Given the description of an element on the screen output the (x, y) to click on. 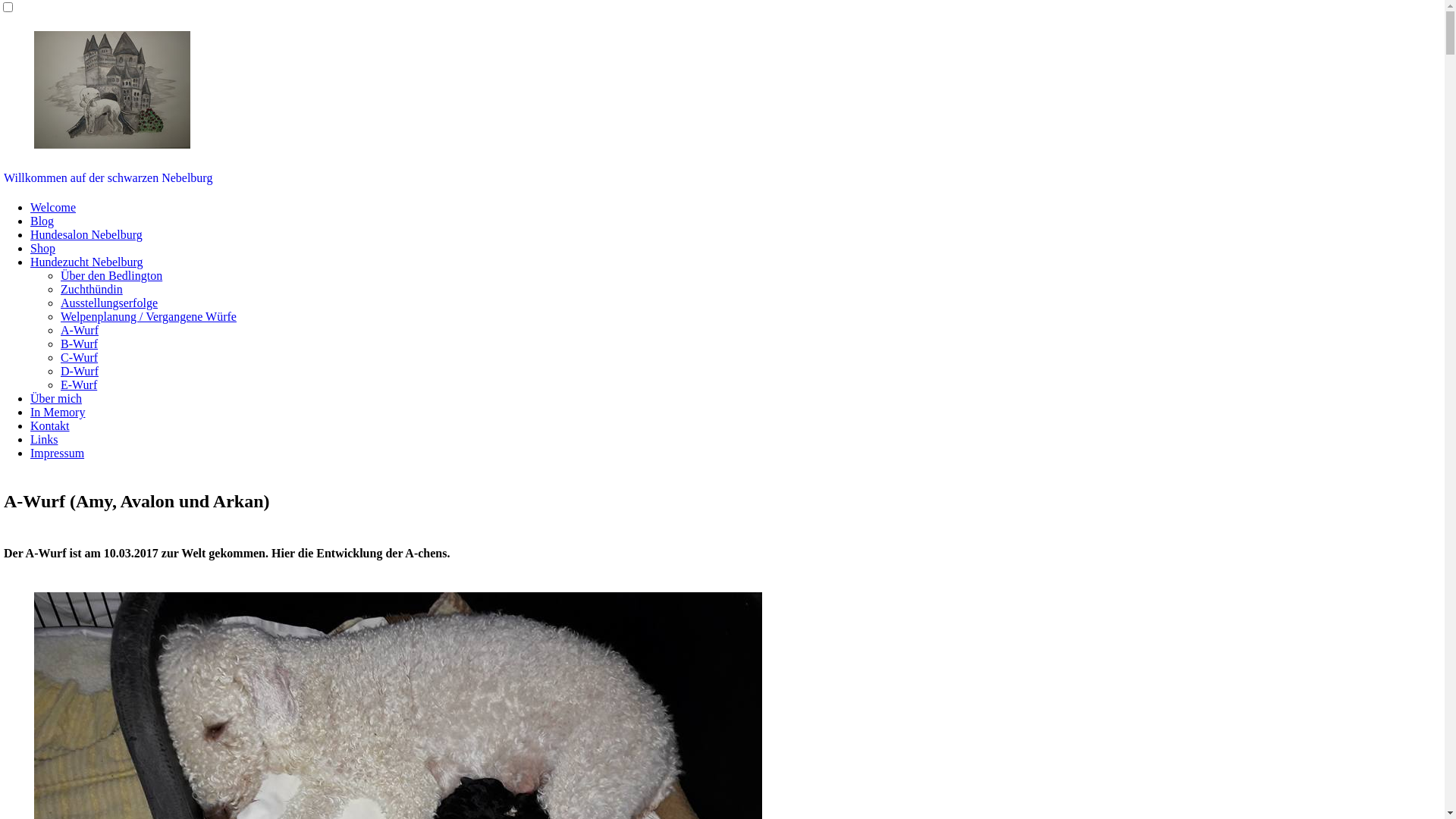
Kontakt Element type: text (49, 425)
Blog Element type: text (41, 220)
Hundezucht Nebelburg Element type: text (86, 261)
Willkommen auf der schwarzen Nebelburg Element type: text (107, 177)
Links Element type: text (43, 439)
Shop Element type: text (42, 247)
A-Wurf Element type: text (79, 329)
Welcome Element type: text (52, 206)
E-Wurf Element type: text (78, 384)
In Memory Element type: text (57, 411)
Impressum Element type: text (57, 452)
C-Wurf Element type: text (78, 357)
D-Wurf Element type: text (79, 370)
B-Wurf Element type: text (78, 343)
Ausstellungserfolge Element type: text (108, 302)
Hundesalon Nebelburg Element type: text (86, 234)
